Given the description of an element on the screen output the (x, y) to click on. 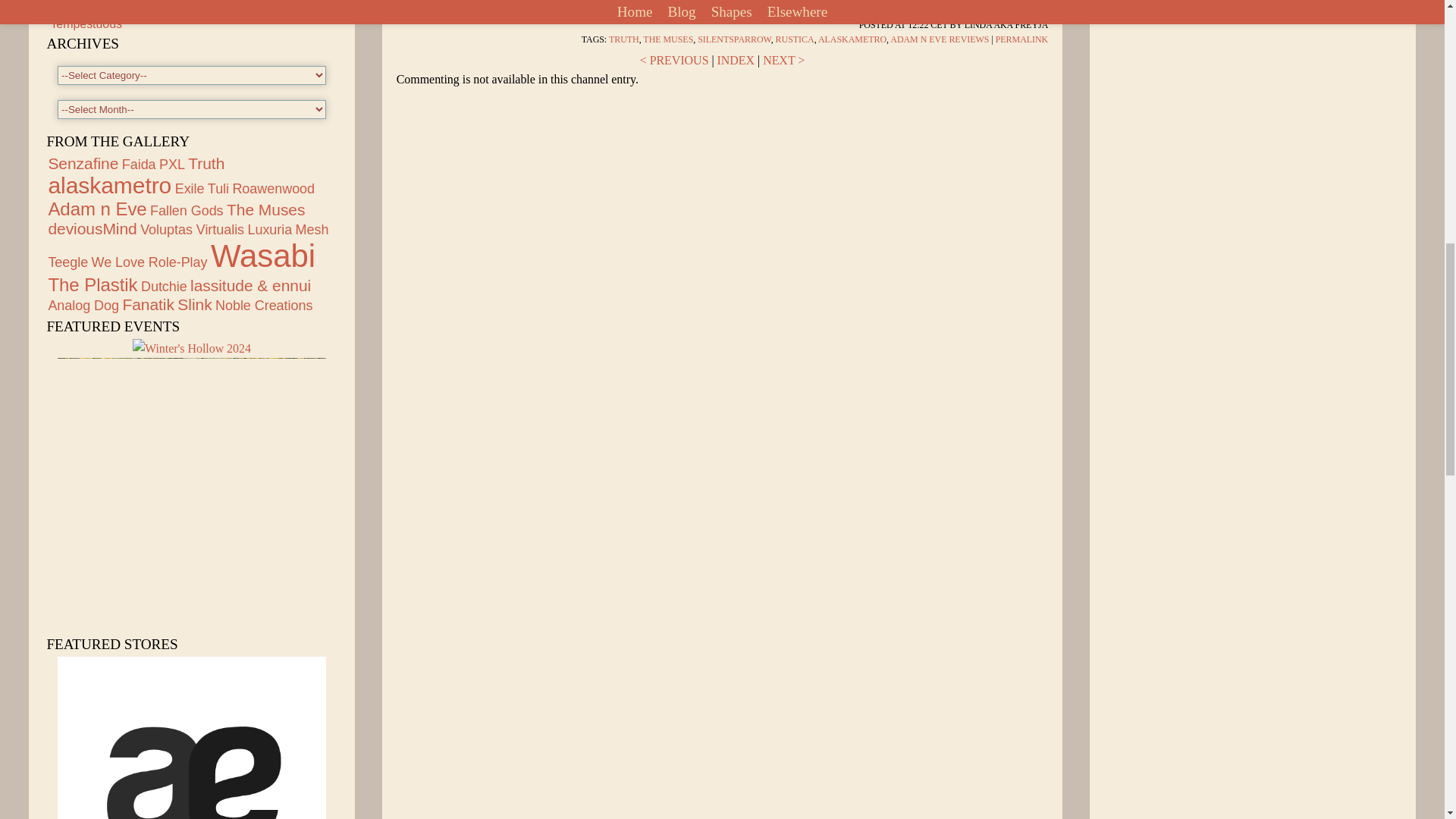
Luxuria (269, 229)
deviousMind (92, 228)
Hair Fair 2024 Coming Soon (126, 10)
Adam n Eve (192, 737)
Fallen Gods (186, 210)
Winter's Hollow 2024 (191, 348)
We Love Role-Play (149, 262)
Tuli (218, 188)
PXL (171, 164)
Voluptas Virtualis (191, 229)
Adam n Eve (97, 209)
alaskametro (109, 185)
The Muses (265, 209)
Truth (205, 162)
Teegle (67, 262)
